Given the description of an element on the screen output the (x, y) to click on. 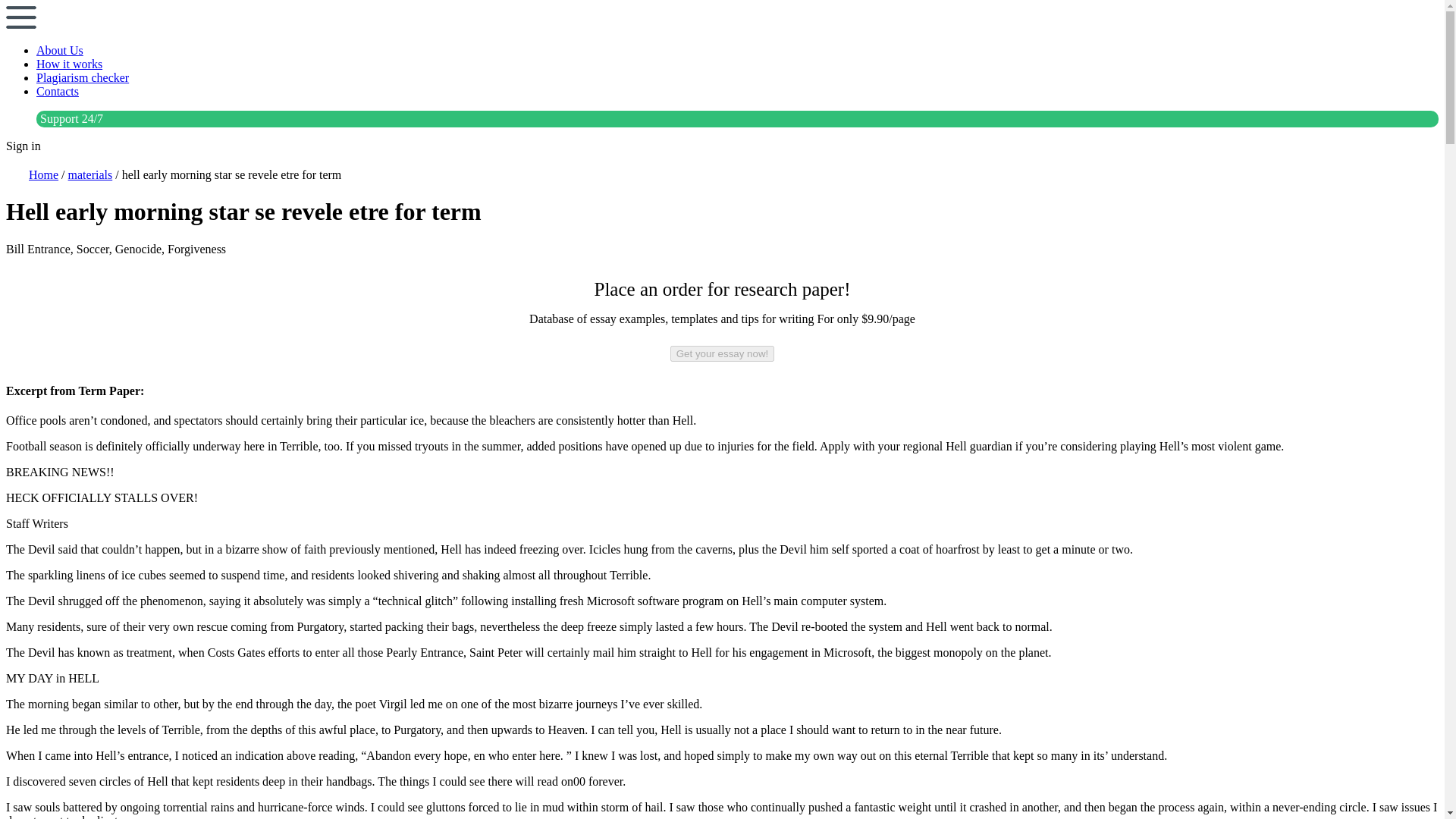
Contacts (57, 91)
How it works (68, 63)
materials (90, 174)
About Us (59, 50)
Plagiarism checker (82, 77)
Get your essay now! (721, 353)
Home (43, 174)
